Given the description of an element on the screen output the (x, y) to click on. 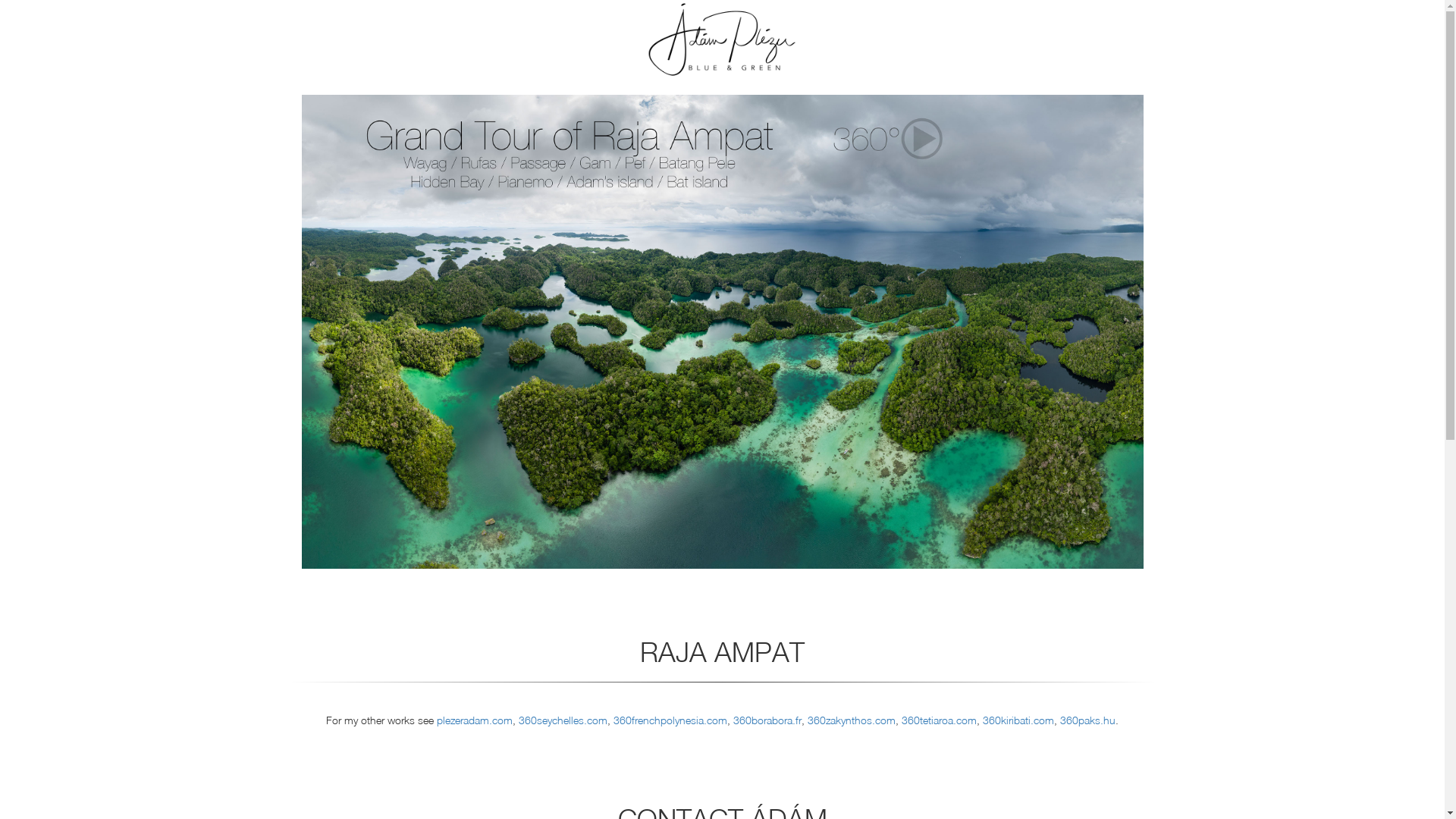
360kiribati.com Element type: text (1018, 719)
360zakynthos.com Element type: text (851, 719)
360paks.hu Element type: text (1087, 719)
plezeradam.com Element type: text (474, 719)
360tetiaroa.com Element type: text (938, 719)
360borabora.fr Element type: text (767, 719)
360frenchpolynesia.com Element type: text (670, 719)
360seychelles.com Element type: text (562, 719)
